Given the description of an element on the screen output the (x, y) to click on. 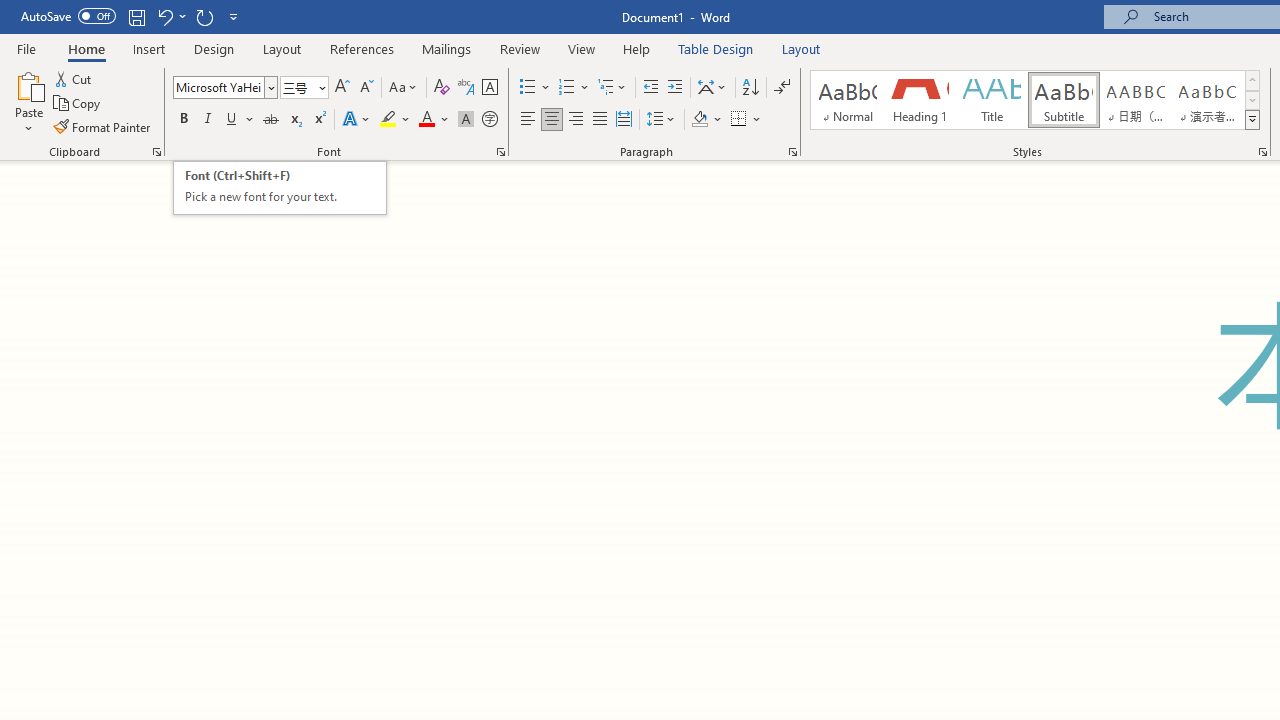
Repeat Doc Close (204, 15)
Font Color Red (426, 119)
